Given the description of an element on the screen output the (x, y) to click on. 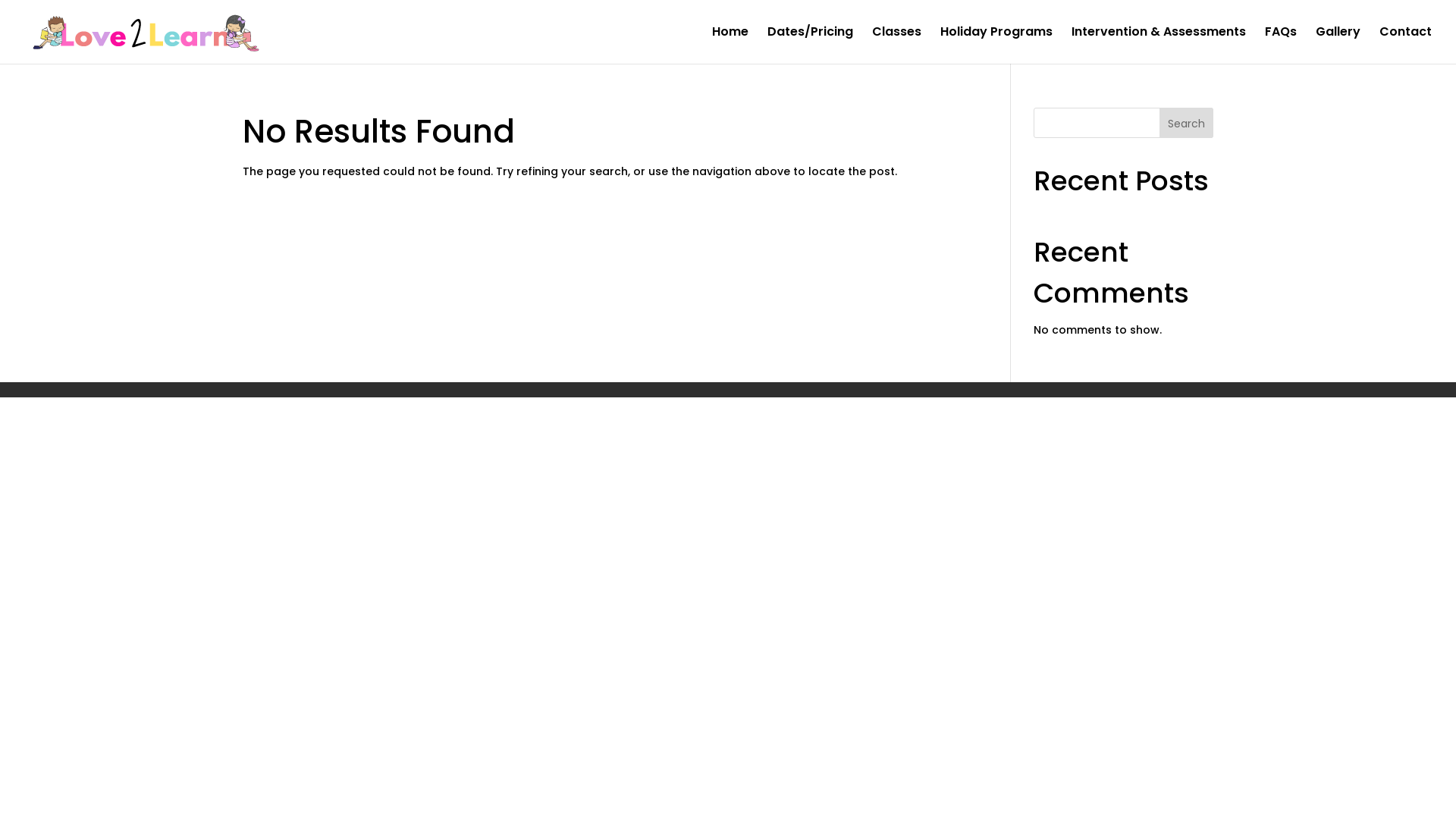
Holiday Programs Element type: text (996, 44)
FAQs Element type: text (1280, 44)
Contact Element type: text (1405, 44)
Search Element type: text (1186, 122)
Dates/Pricing Element type: text (810, 44)
Classes Element type: text (896, 44)
Gallery Element type: text (1337, 44)
Home Element type: text (730, 44)
Intervention & Assessments Element type: text (1158, 44)
